Given the description of an element on the screen output the (x, y) to click on. 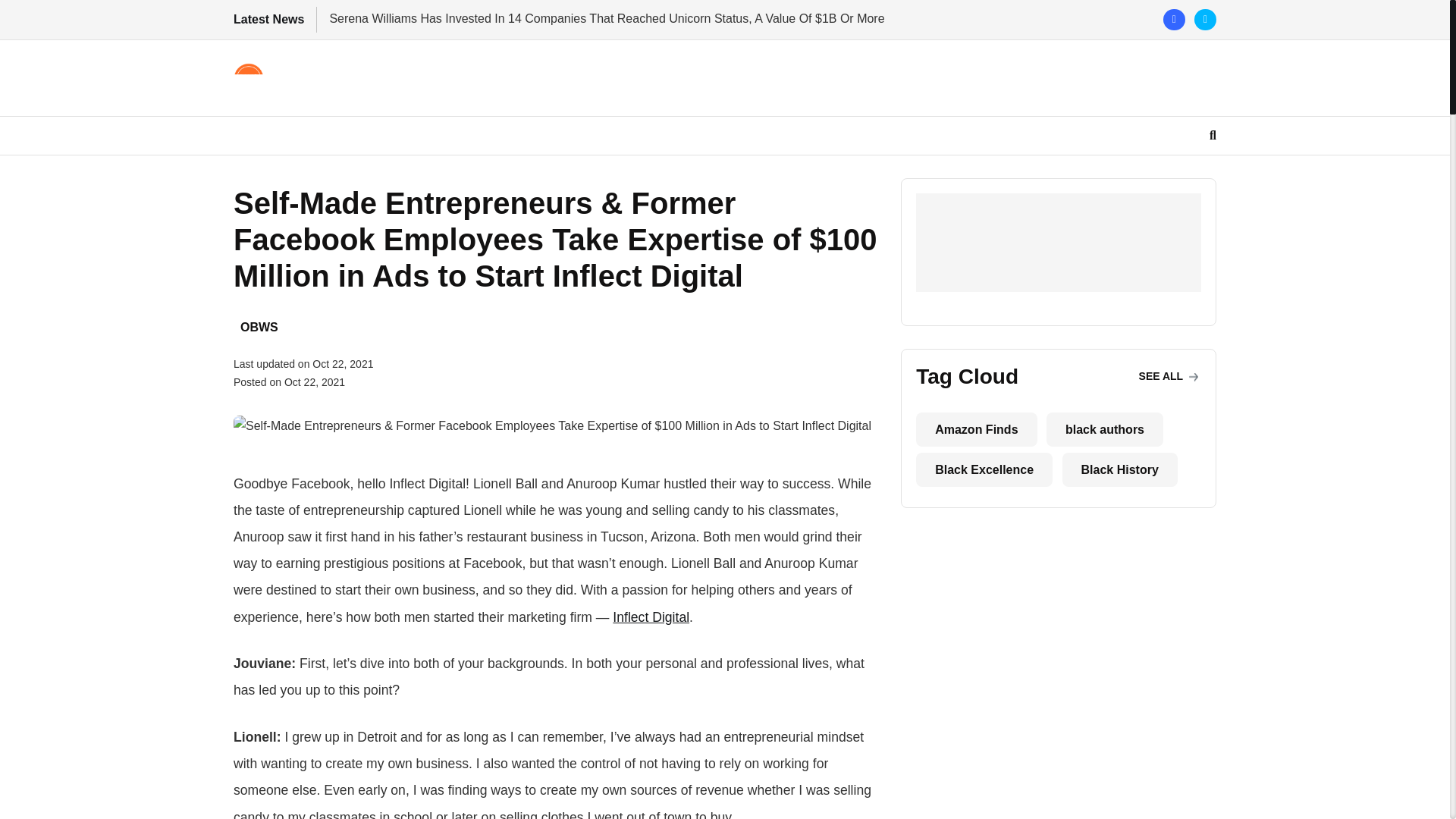
Black History (1119, 469)
Inflect Digital (650, 616)
black authors (1104, 429)
OBWS (259, 326)
Black Excellence (983, 469)
SEE ALL (1169, 376)
Amazon Finds (975, 429)
